Given the description of an element on the screen output the (x, y) to click on. 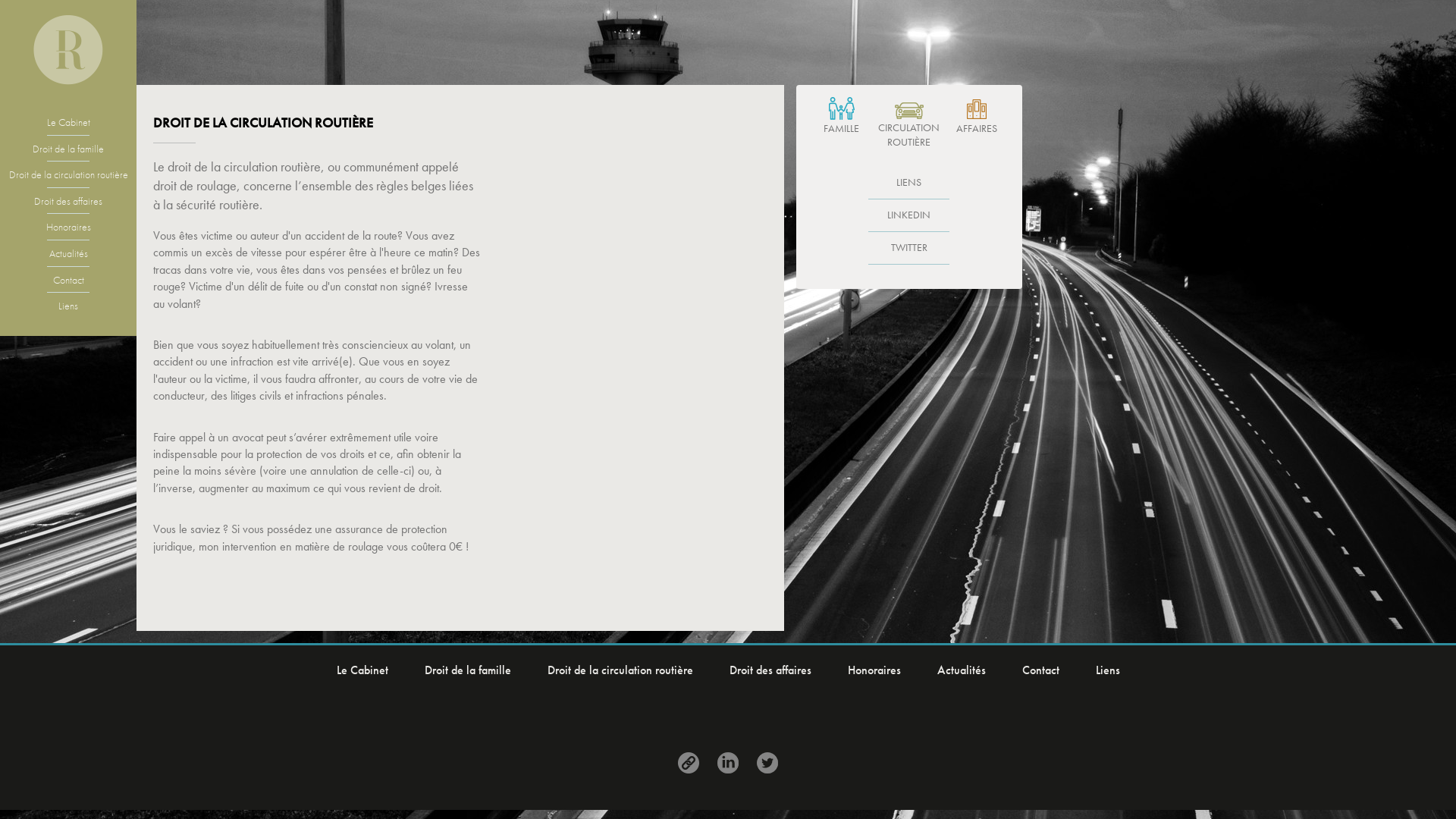
Le Cabinet Element type: text (362, 670)
Honoraires Element type: text (874, 670)
LINKEDIN Element type: text (908, 215)
Le Cabinet Element type: text (68, 127)
Liens Element type: text (1106, 670)
Droit de la famille Element type: text (467, 670)
AFFAIRES Element type: text (976, 116)
Droit de la famille Element type: text (67, 153)
FAMILLE Element type: text (841, 116)
Twitter Element type: text (767, 762)
Linkedin Element type: text (727, 762)
Contact Element type: text (68, 285)
Honoraires Element type: text (67, 231)
Liens Element type: text (688, 762)
LIENS Element type: text (908, 182)
Droit des affaires Element type: text (68, 206)
TWITTER Element type: text (908, 248)
Droit des affaires Element type: text (770, 670)
Liens Element type: text (68, 305)
Contact Element type: text (1040, 670)
